Given the description of an element on the screen output the (x, y) to click on. 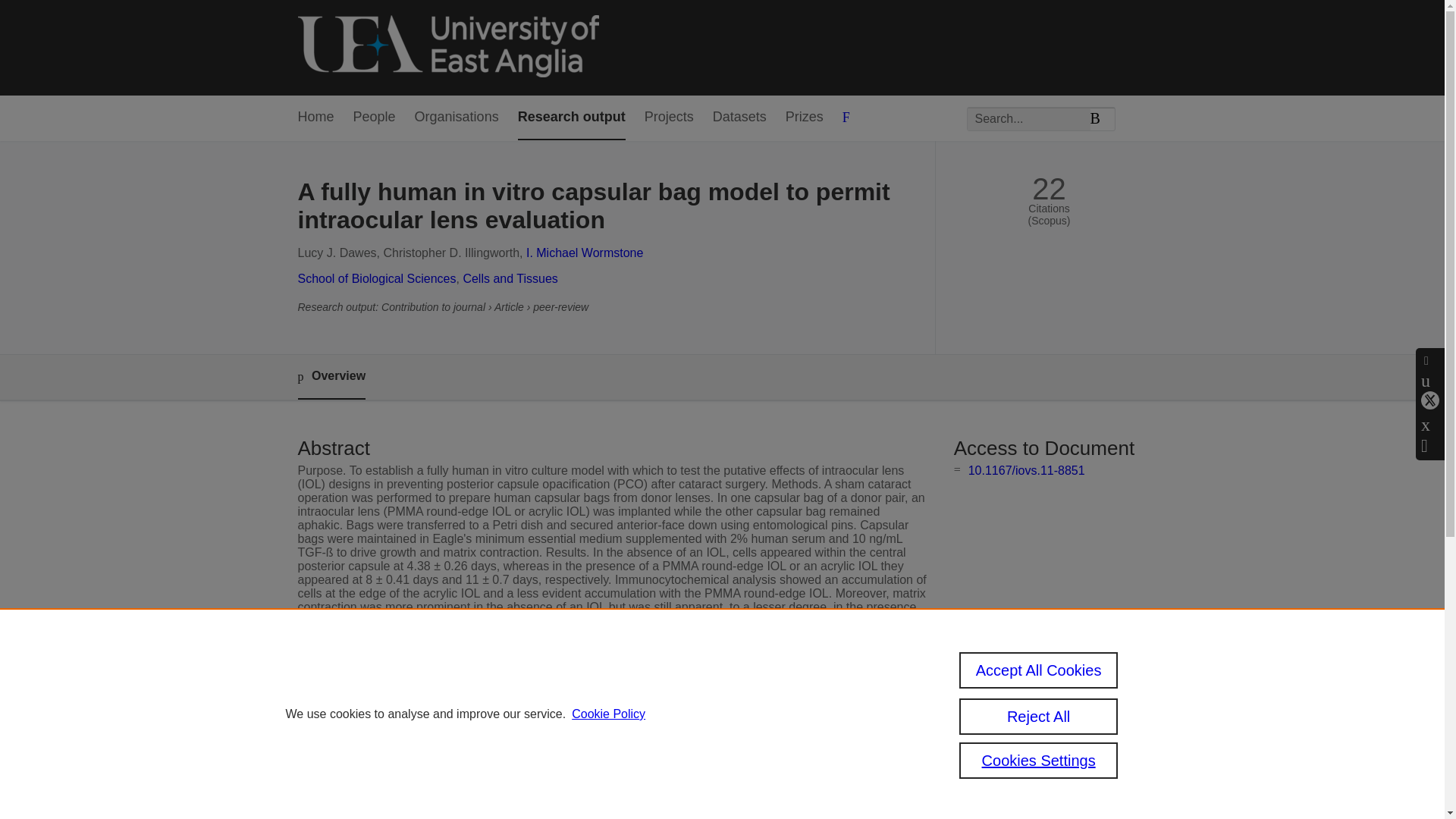
Projects (669, 117)
Cells and Tissues (510, 278)
People (374, 117)
Datasets (740, 117)
Research output (572, 117)
Cookie Policy (608, 713)
University of East Anglia Home (447, 47)
Overview (331, 376)
I. Michael Wormstone (584, 252)
